Given the description of an element on the screen output the (x, y) to click on. 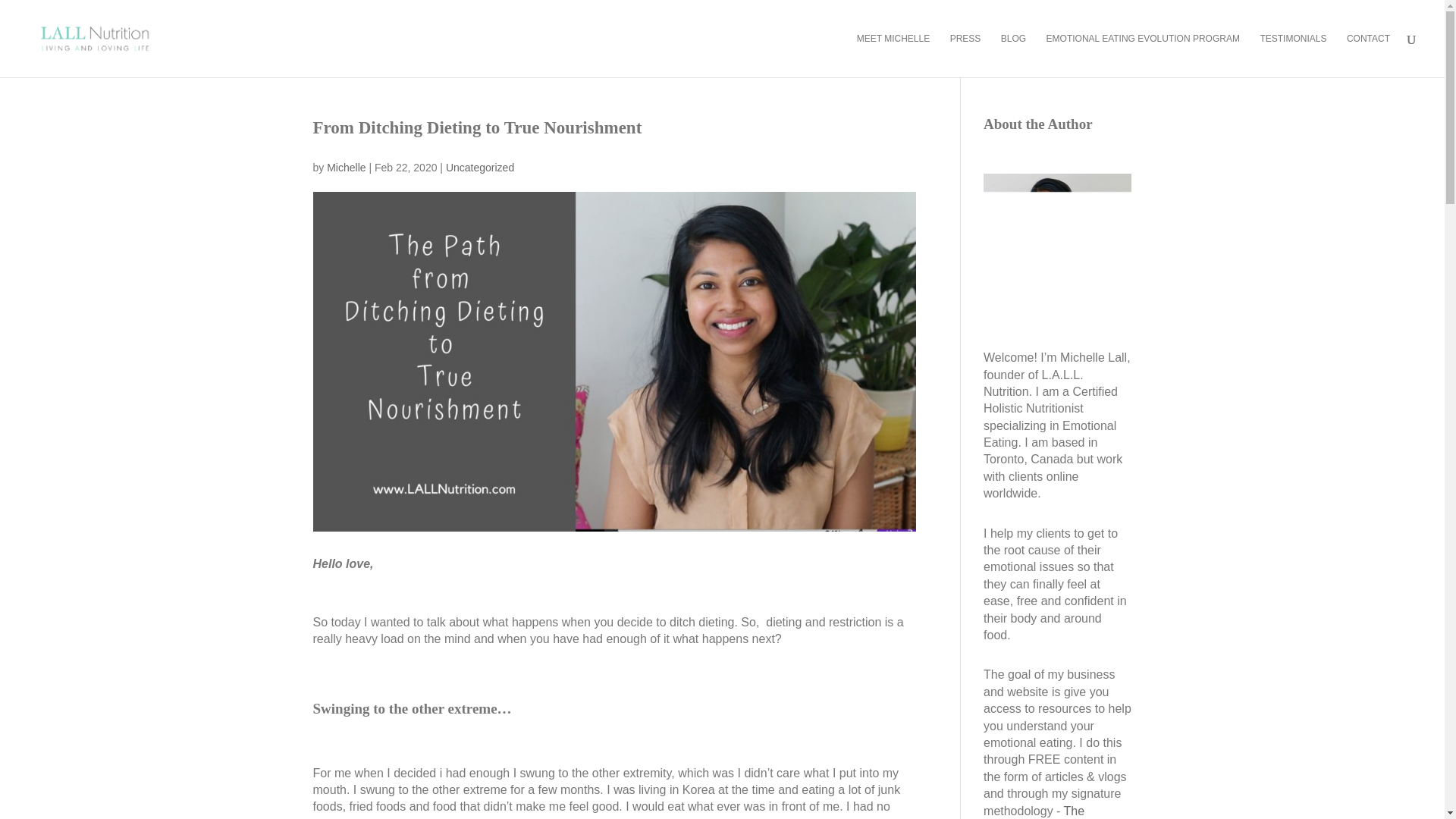
Posts by Michelle (345, 167)
Michelle (345, 167)
EMOTIONAL EATING EVOLUTION PROGRAM (1143, 54)
Uncategorized (479, 167)
The Emotional Eating Evolution Program (1056, 811)
MEET MICHELLE (893, 54)
CONTACT (1368, 54)
TESTIMONIALS (1292, 54)
